Given the description of an element on the screen output the (x, y) to click on. 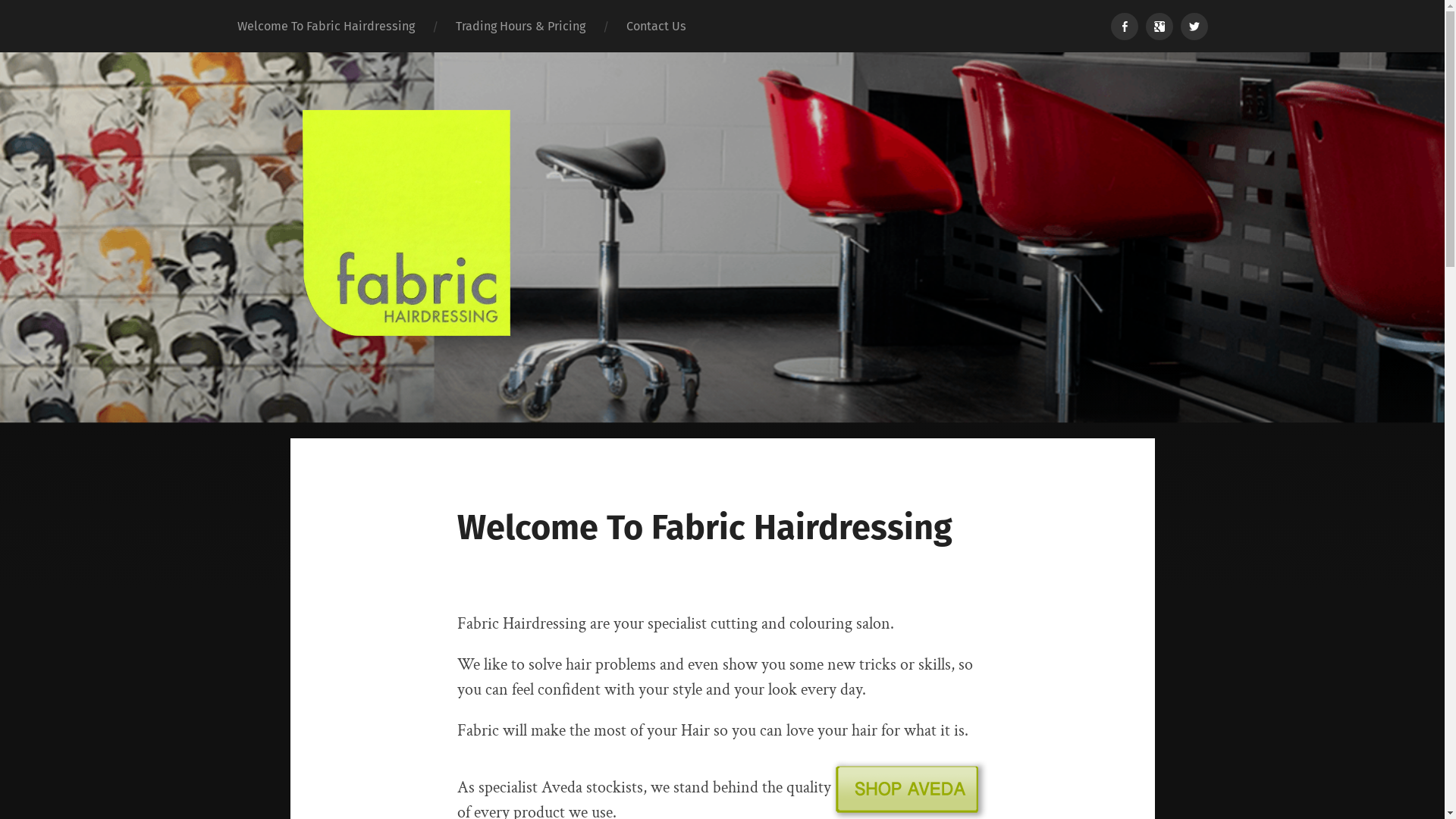
Menu Item Element type: text (1123, 25)
Welcome To Fabric Hairdressing Element type: text (325, 26)
Menu Item Element type: text (1158, 25)
Fabric Hairdressing Kingston Canberra Element type: text (721, 245)
Menu Item Element type: text (1193, 25)
Contact Us Element type: text (655, 26)
Trading Hours & Pricing Element type: text (520, 26)
